Given the description of an element on the screen output the (x, y) to click on. 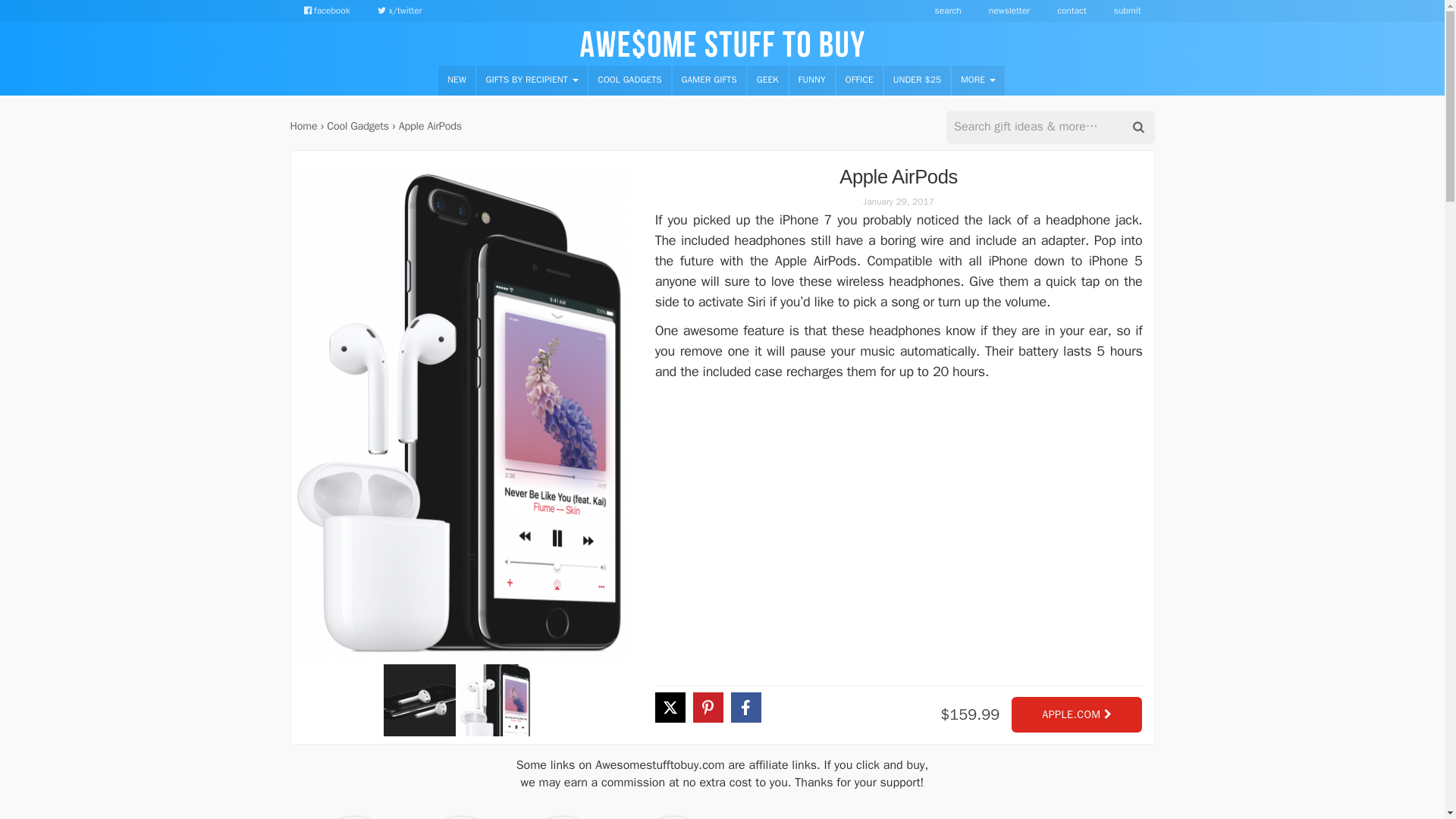
Cool Gadgets (628, 80)
MORE (978, 80)
OFFICE (858, 80)
facebook (325, 10)
Like Awesome Stuff to Buy on Facebook (325, 10)
Submit product (1127, 10)
COOL GADGETS (628, 80)
search (947, 10)
Cool Gadgets (357, 125)
submit (1127, 10)
FUNNY (811, 80)
GAMER GIFTS (708, 80)
Contact Awesome Stuff to Buy (1071, 10)
